Given the description of an element on the screen output the (x, y) to click on. 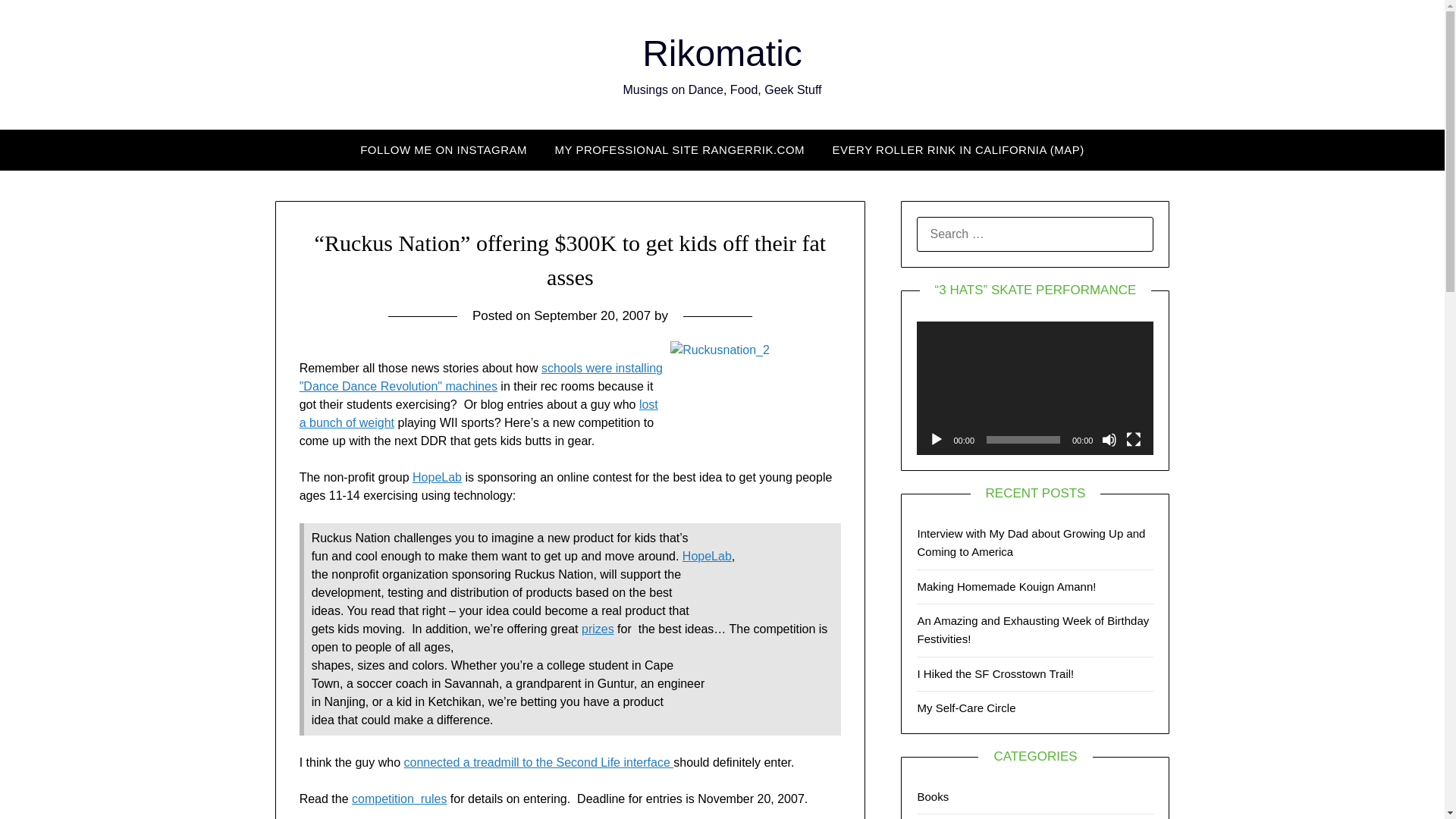
connected a treadmill to the Second Life interface (537, 762)
Play (935, 439)
HopeLab (707, 555)
HopeLab (436, 477)
September 20, 2007 (592, 315)
Fullscreen (1133, 439)
Making Homemade Kouign Amann! (1006, 585)
I Hiked the SF Crosstown Trail! (995, 673)
Search (38, 22)
prizes (597, 628)
Interview with My Dad about Growing Up and Coming to America (1030, 542)
MY PROFESSIONAL SITE RANGERRIK.COM (679, 149)
My Self-Care Circle (965, 707)
lost a bunch of weight (478, 413)
An Amazing and Exhausting Week of Birthday Festivities! (1032, 629)
